Given the description of an element on the screen output the (x, y) to click on. 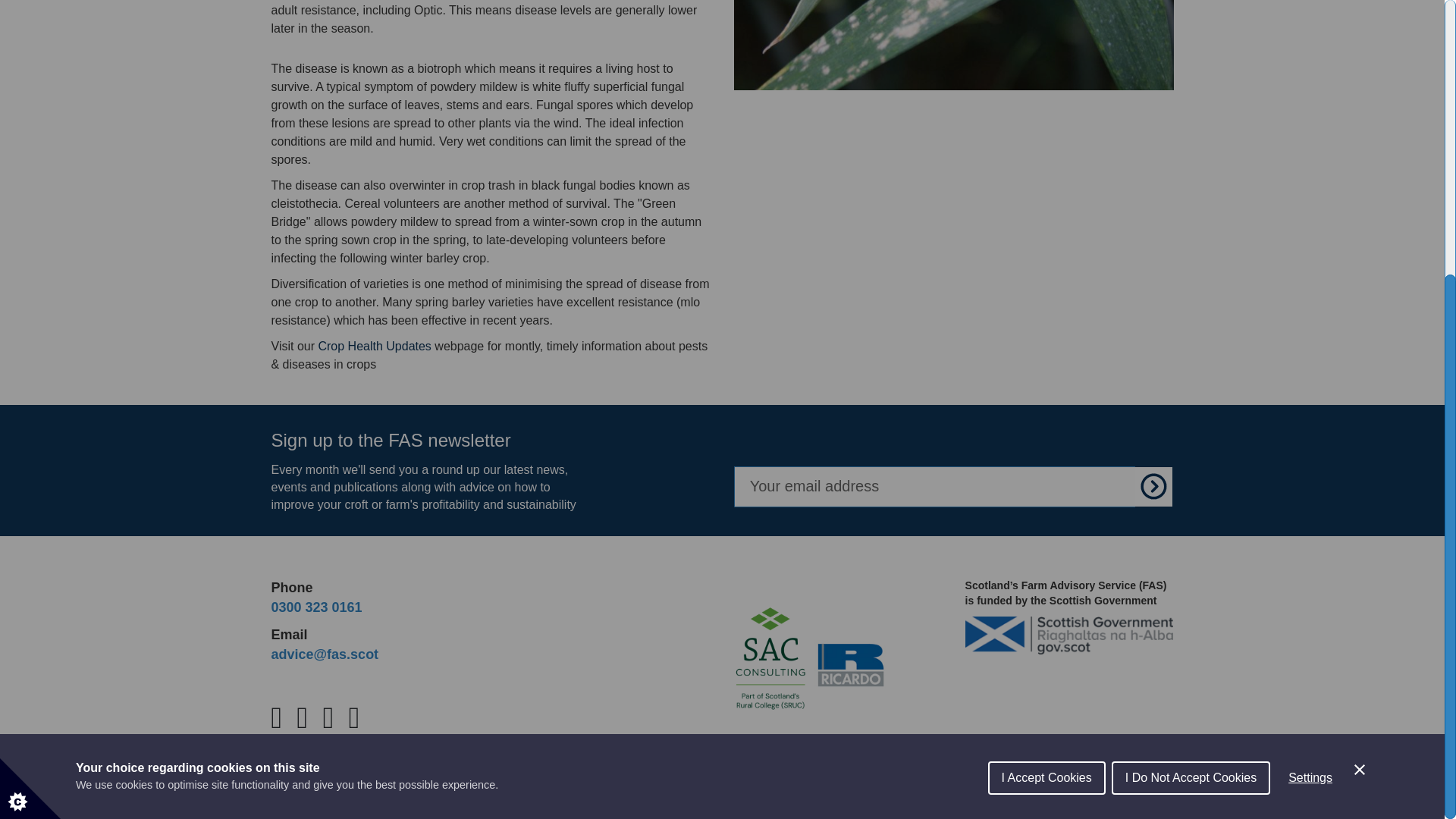
EDM3 (953, 45)
Submit (1154, 486)
I Accept Cookies (1046, 394)
Settings (1309, 381)
I Do Not Accept Cookies (1190, 389)
